Given the description of an element on the screen output the (x, y) to click on. 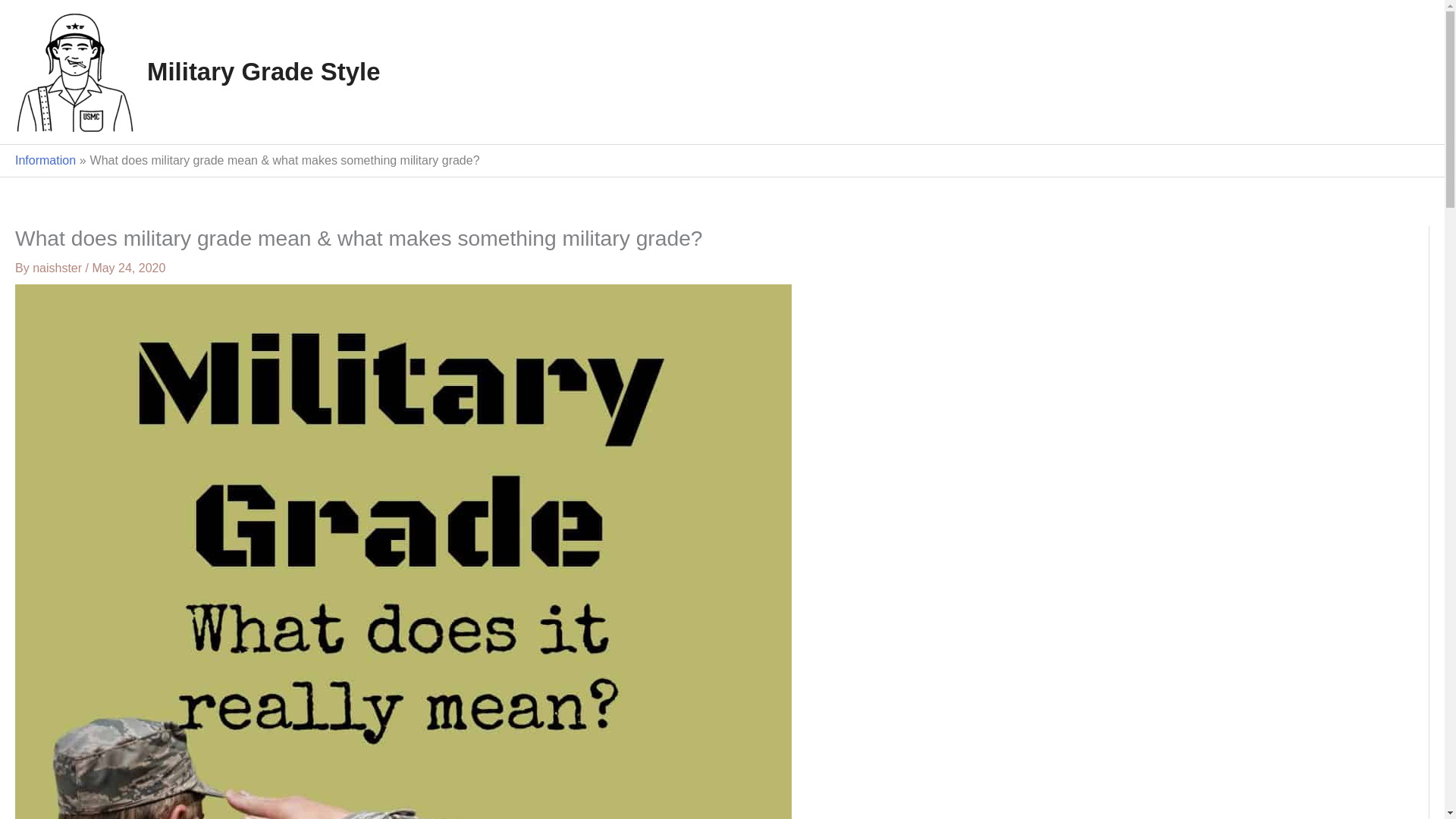
View all posts by naishster (58, 267)
naishster (58, 267)
Military Grade Style (263, 71)
Information (44, 160)
